Given the description of an element on the screen output the (x, y) to click on. 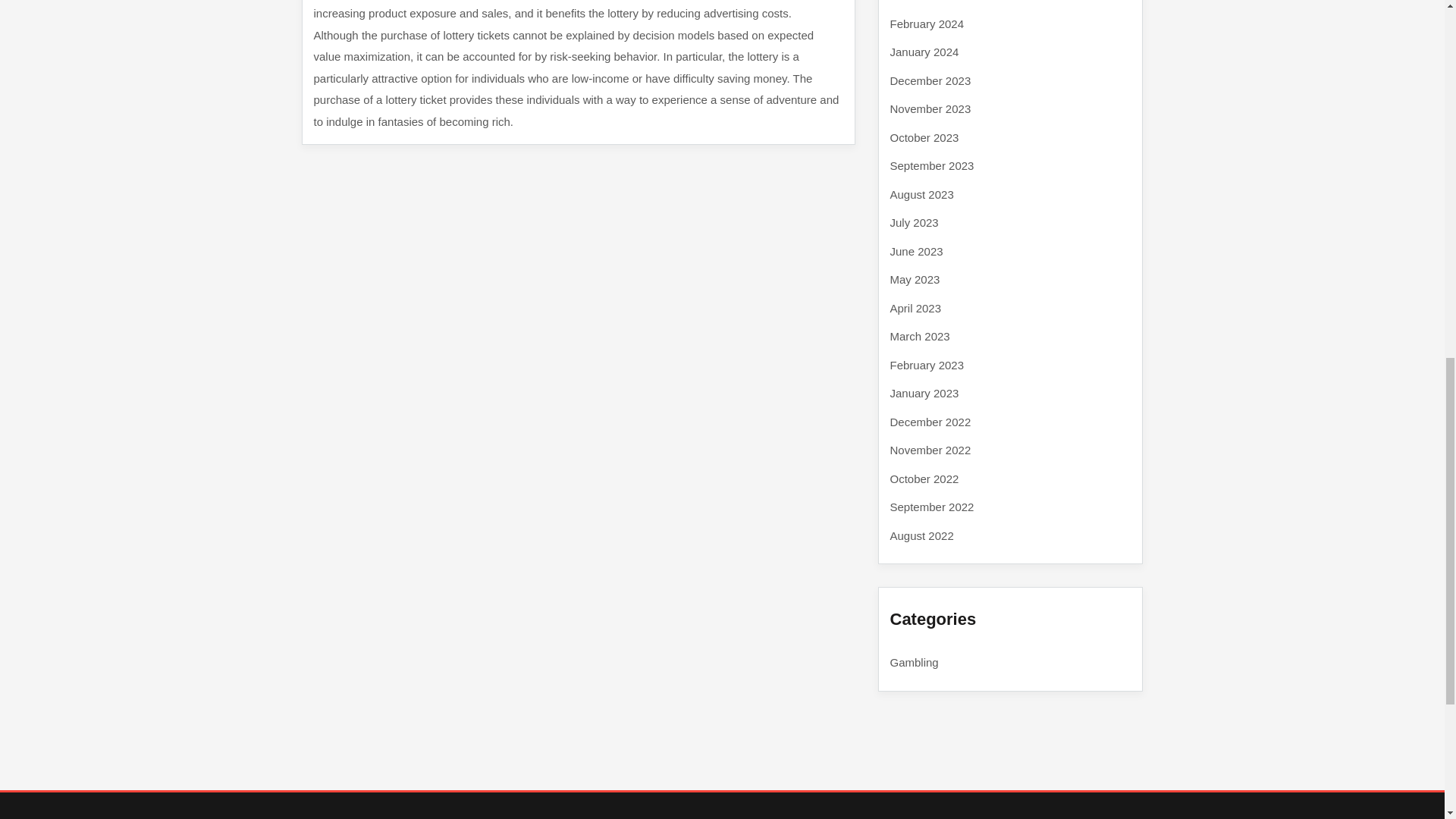
June 2023 (916, 250)
November 2022 (930, 449)
October 2023 (924, 136)
November 2023 (930, 108)
March 2024 (919, 0)
July 2023 (914, 222)
August 2022 (921, 535)
March 2023 (919, 336)
February 2023 (926, 364)
September 2022 (931, 506)
